Given the description of an element on the screen output the (x, y) to click on. 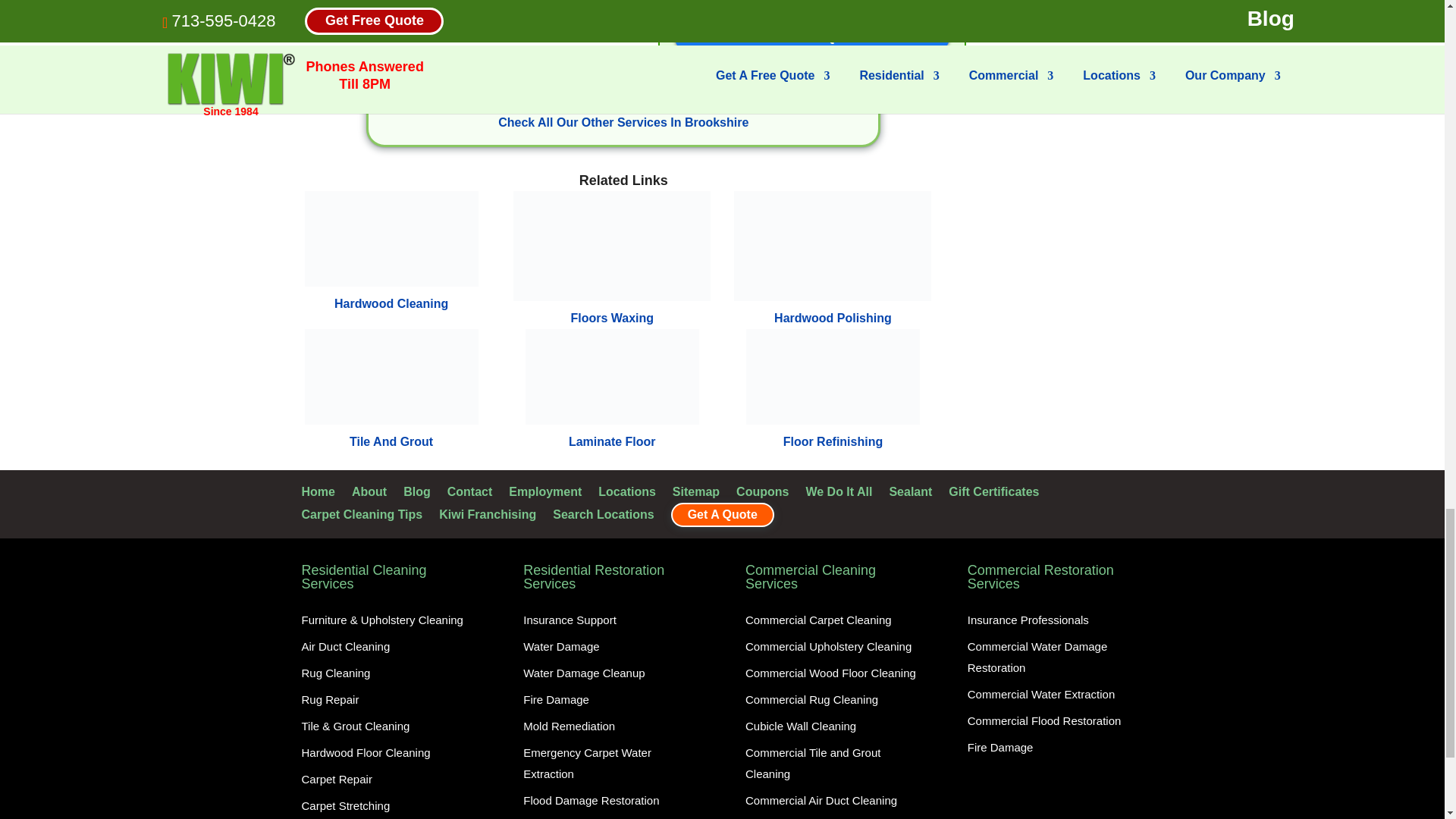
Hardwood Cleaning (391, 238)
Laminate Floor (611, 377)
877-353-5494 (812, 1)
Hardwood Polishing (832, 245)
Get a Free Quote (811, 37)
Tile And Grout (391, 377)
Floors Waxing (611, 245)
Floor Refinishing (832, 377)
